Given the description of an element on the screen output the (x, y) to click on. 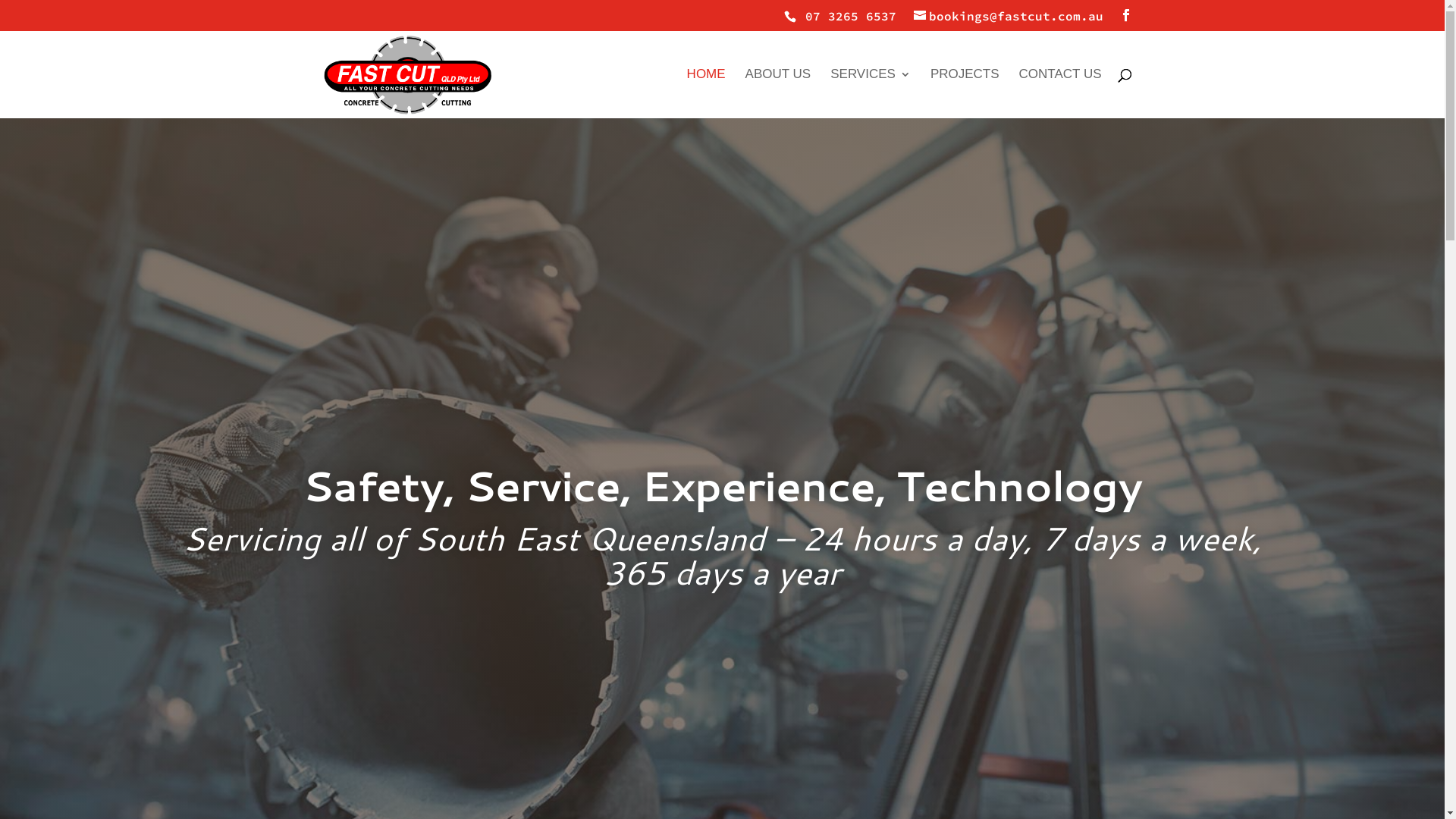
HOME Element type: text (706, 93)
bookings@fastcut.com.au Element type: text (1007, 15)
SERVICES Element type: text (870, 93)
CONTACT US Element type: text (1060, 93)
07 3265 6537 Element type: text (845, 15)
PROJECTS Element type: text (964, 93)
ABOUT US Element type: text (778, 93)
